Given the description of an element on the screen output the (x, y) to click on. 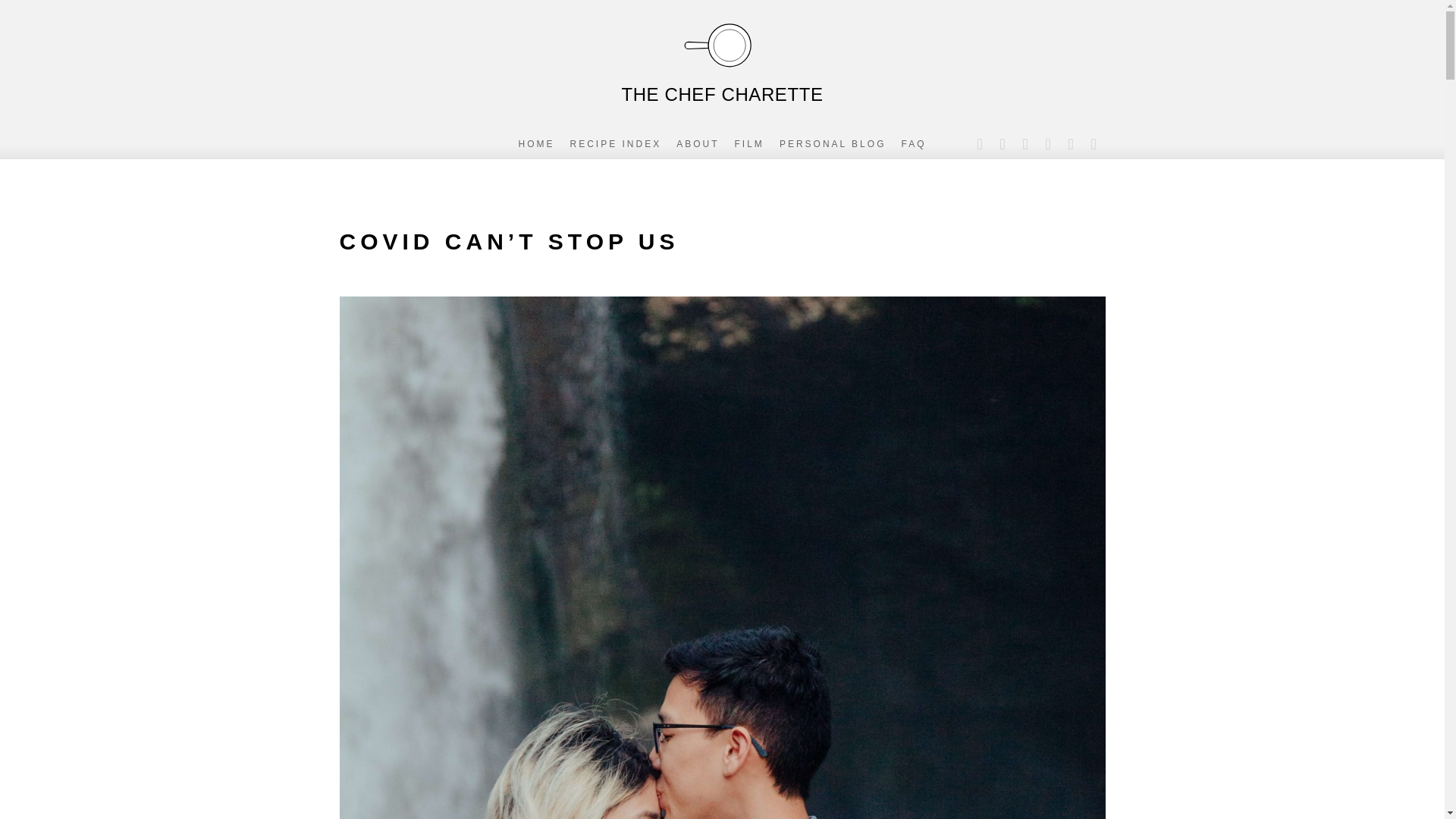
FILM (748, 143)
PERSONAL BLOG (832, 143)
FAQ (913, 143)
ABOUT (697, 143)
THE CHEF CHARETTE (721, 60)
HOME (536, 143)
RECIPE INDEX (615, 143)
